Given the description of an element on the screen output the (x, y) to click on. 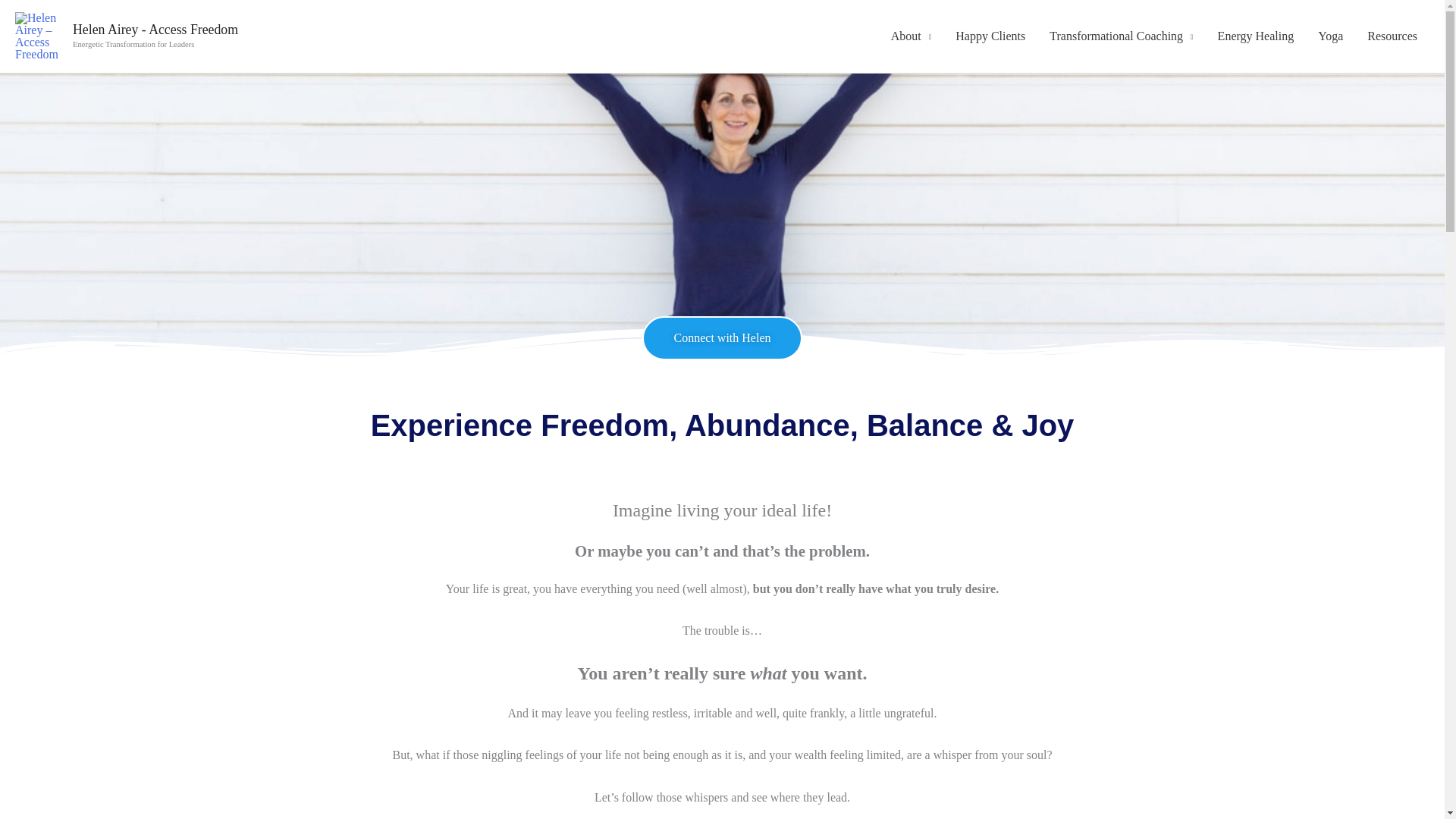
Yoga (1330, 36)
Energy Healing (1255, 36)
Resources (1392, 36)
Transformational Coaching (1120, 36)
Helen Airey - Access Freedom (155, 29)
Happy Clients (989, 36)
Connect with Helen (722, 338)
About (911, 36)
